Given the description of an element on the screen output the (x, y) to click on. 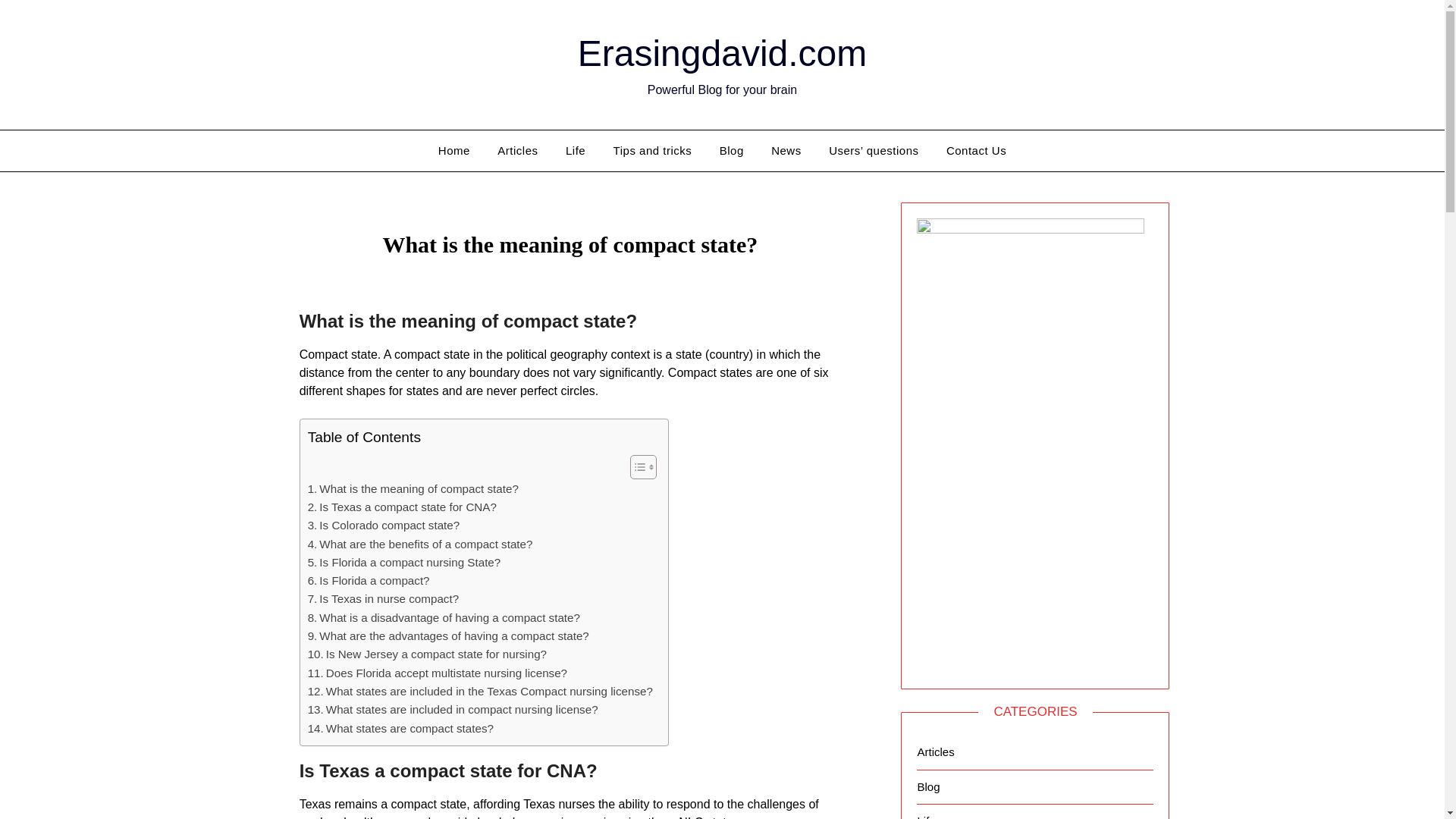
What states are included in compact nursing license? (452, 710)
Does Florida accept multistate nursing license? (437, 673)
What states are compact states? (400, 728)
Contact Us (975, 150)
Life (574, 150)
What is the meaning of compact state? (412, 488)
Is Florida a compact? (368, 580)
Is Colorado compact state? (383, 525)
Articles (517, 150)
Is New Jersey a compact state for nursing? (427, 654)
Erasingdavid.com (722, 53)
Is Colorado compact state? (383, 525)
Blog (731, 150)
What are the advantages of having a compact state? (448, 636)
Is Texas a compact state for CNA? (401, 506)
